Given the description of an element on the screen output the (x, y) to click on. 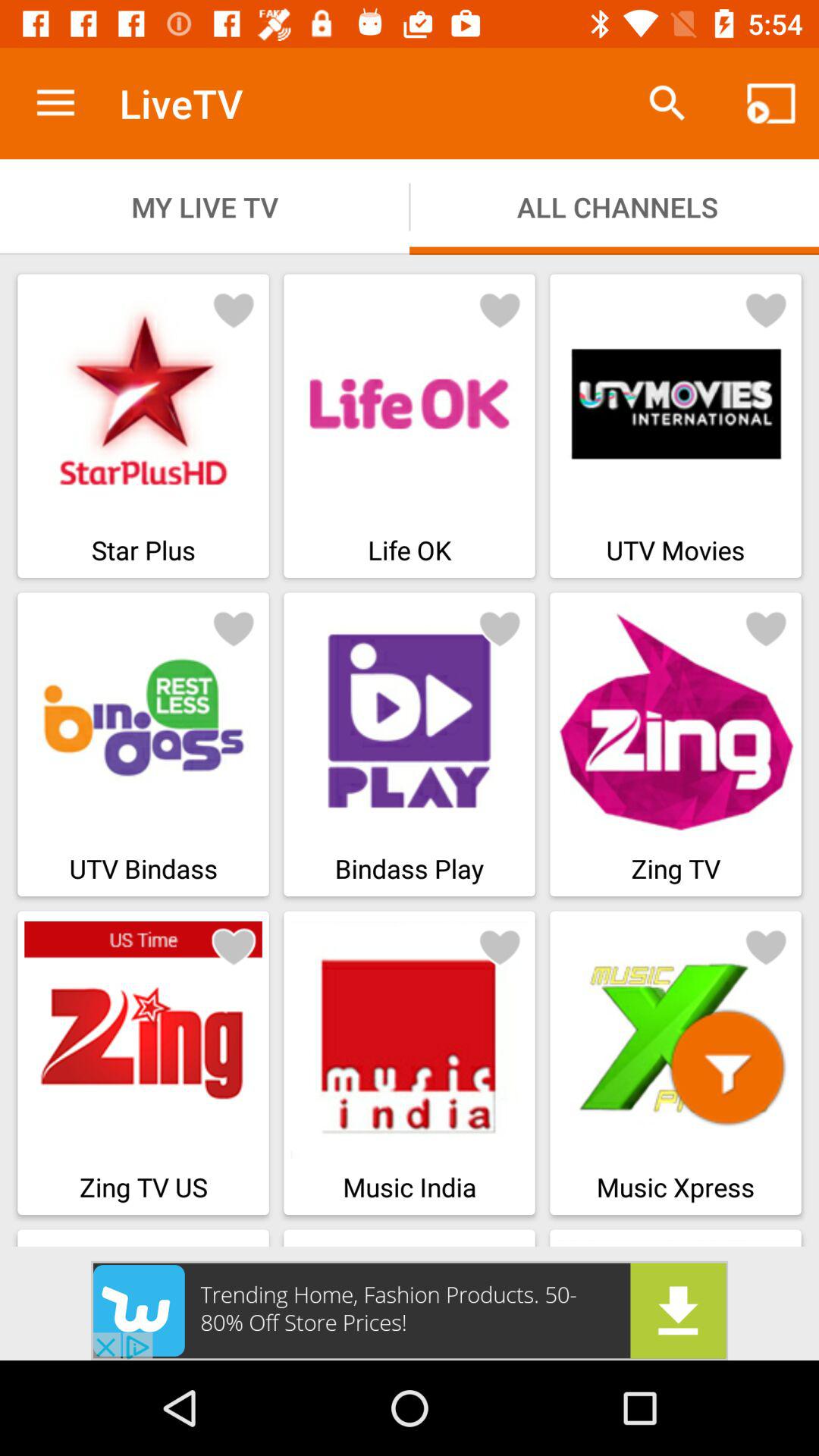
favorite button (499, 309)
